Given the description of an element on the screen output the (x, y) to click on. 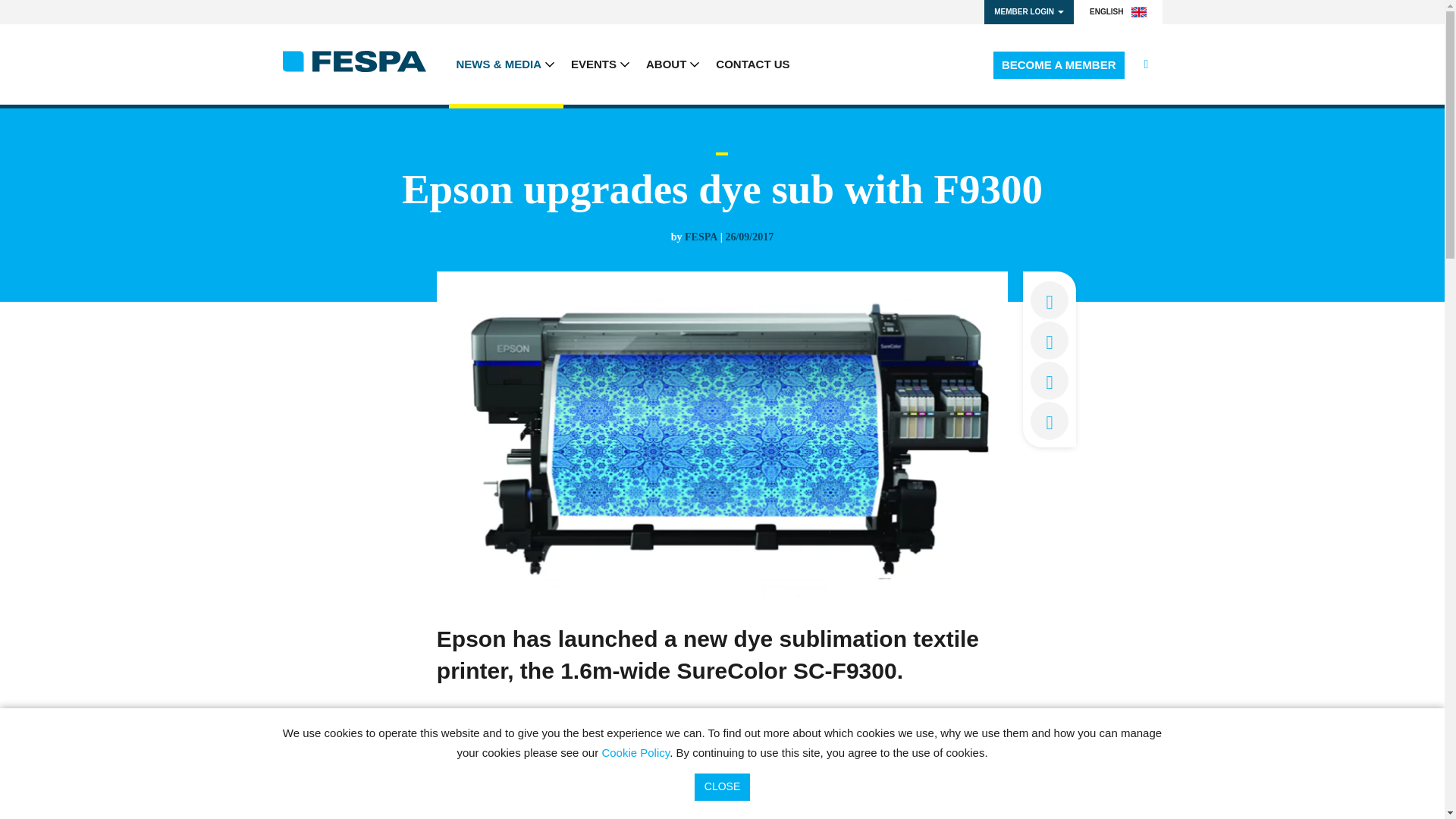
ENGLISH (1117, 12)
MEMBER LOGIN (1029, 12)
EVENTS (601, 63)
ABOUT (673, 63)
